Given the description of an element on the screen output the (x, y) to click on. 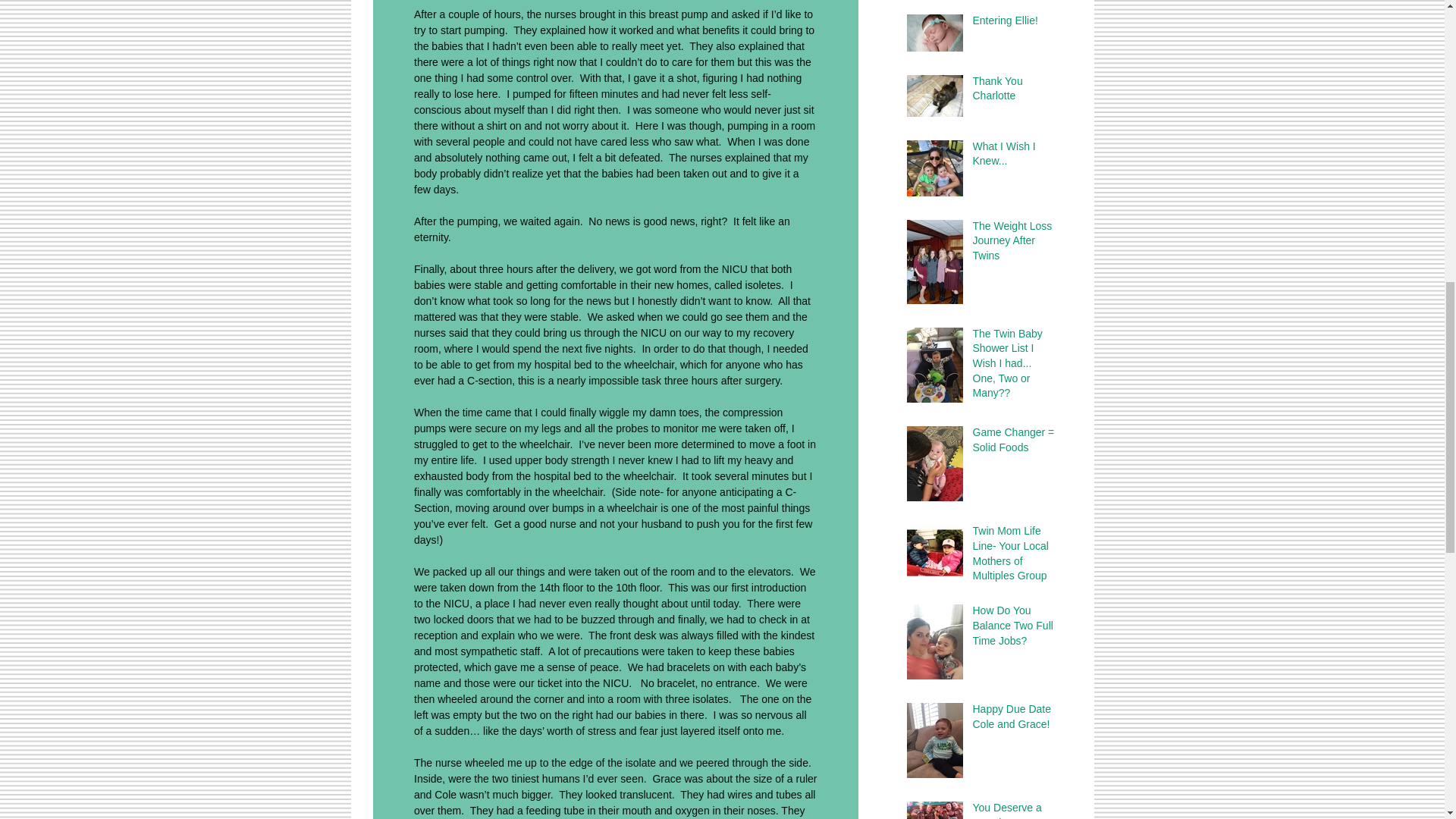
You Deserve a Vacation Mama! (1013, 809)
What I Wish I Knew... (1013, 157)
Entering Ellie! (1013, 24)
How Do You Balance Two Full Time Jobs? (1013, 628)
Twin Mom Life Line- Your Local Mothers of Multiples Group (1013, 556)
The Weight Loss Journey After Twins (1013, 244)
The Twin Baby Shower List I Wish I had... One, Two or Many?? (1013, 366)
Thank You Charlotte (1013, 91)
Happy Due Date Cole and Grace! (1013, 719)
